Given the description of an element on the screen output the (x, y) to click on. 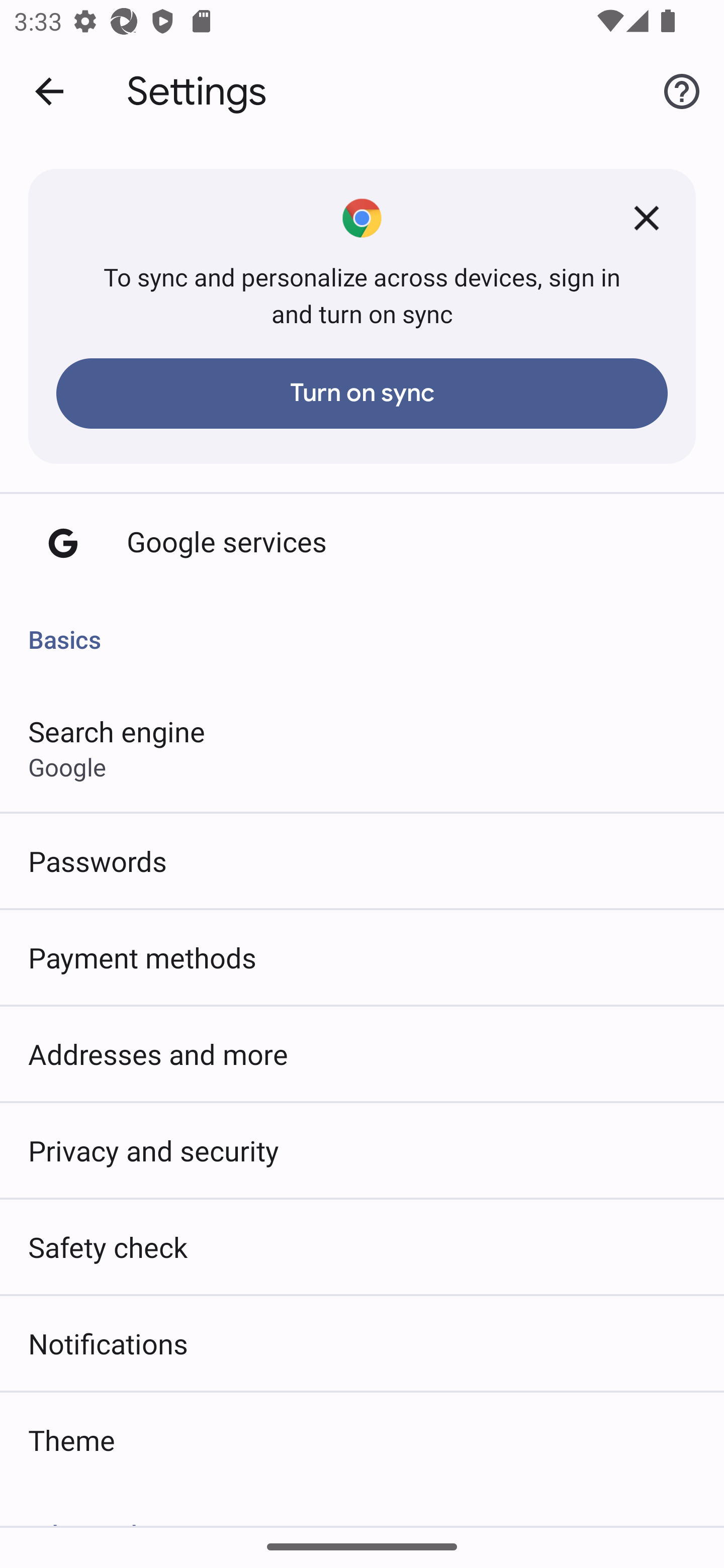
Navigate up (49, 91)
Help & feedback (681, 90)
Close (646, 217)
Turn on sync (361, 393)
Google services (362, 542)
Search engine Google (362, 747)
Passwords (362, 860)
Payment methods (362, 957)
Addresses and more (362, 1053)
Privacy and security (362, 1150)
Safety check (362, 1246)
Notifications (362, 1343)
Theme (362, 1439)
